Given the description of an element on the screen output the (x, y) to click on. 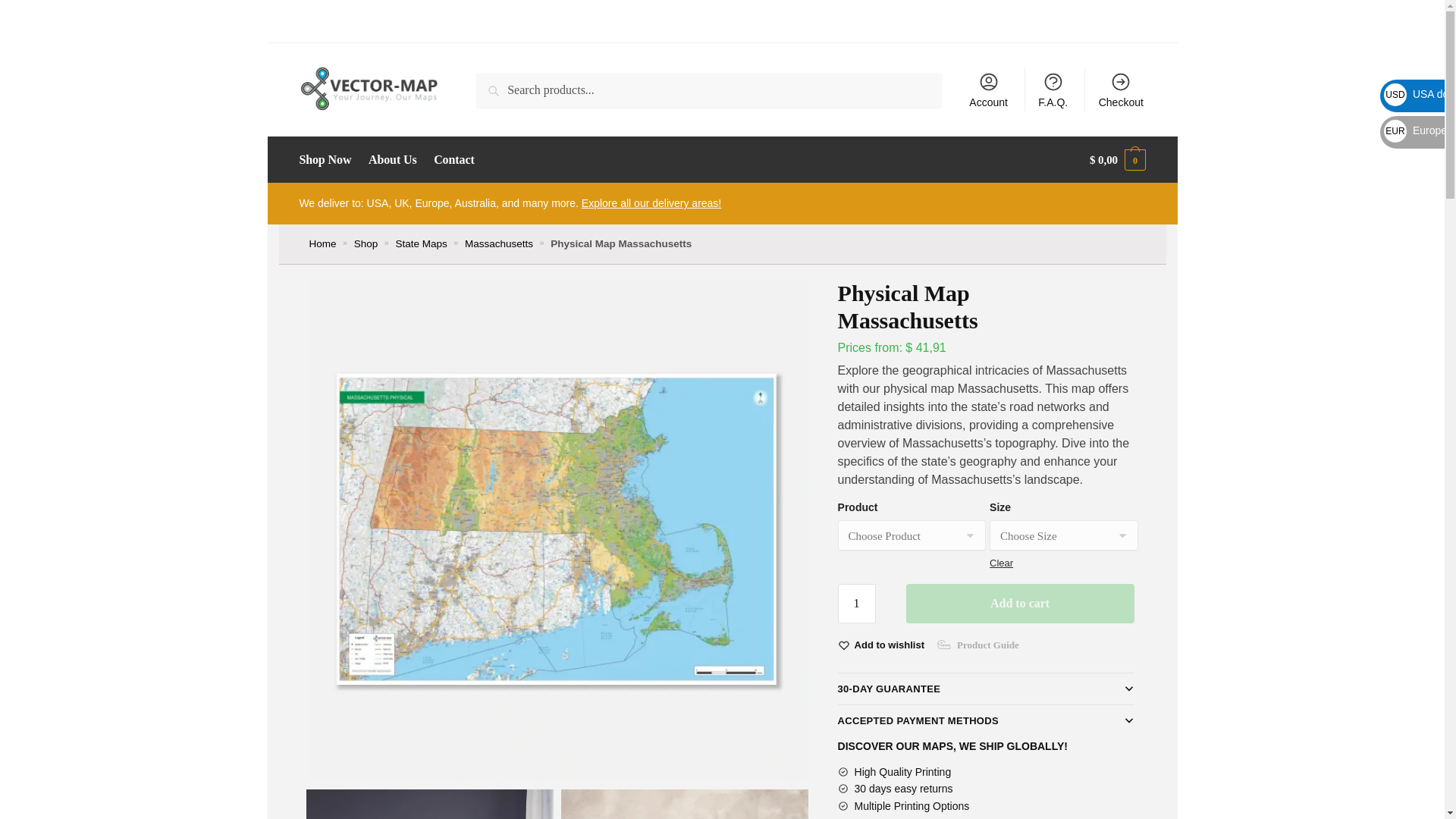
click to zoom-in (684, 804)
Account (987, 89)
About Us (392, 159)
Clear (1001, 562)
Shop (365, 243)
Explore all our delivery areas! (650, 203)
View your shopping cart (1117, 159)
Search (497, 83)
click to zoom-in (429, 804)
F.A.Q. (1053, 89)
